Given the description of an element on the screen output the (x, y) to click on. 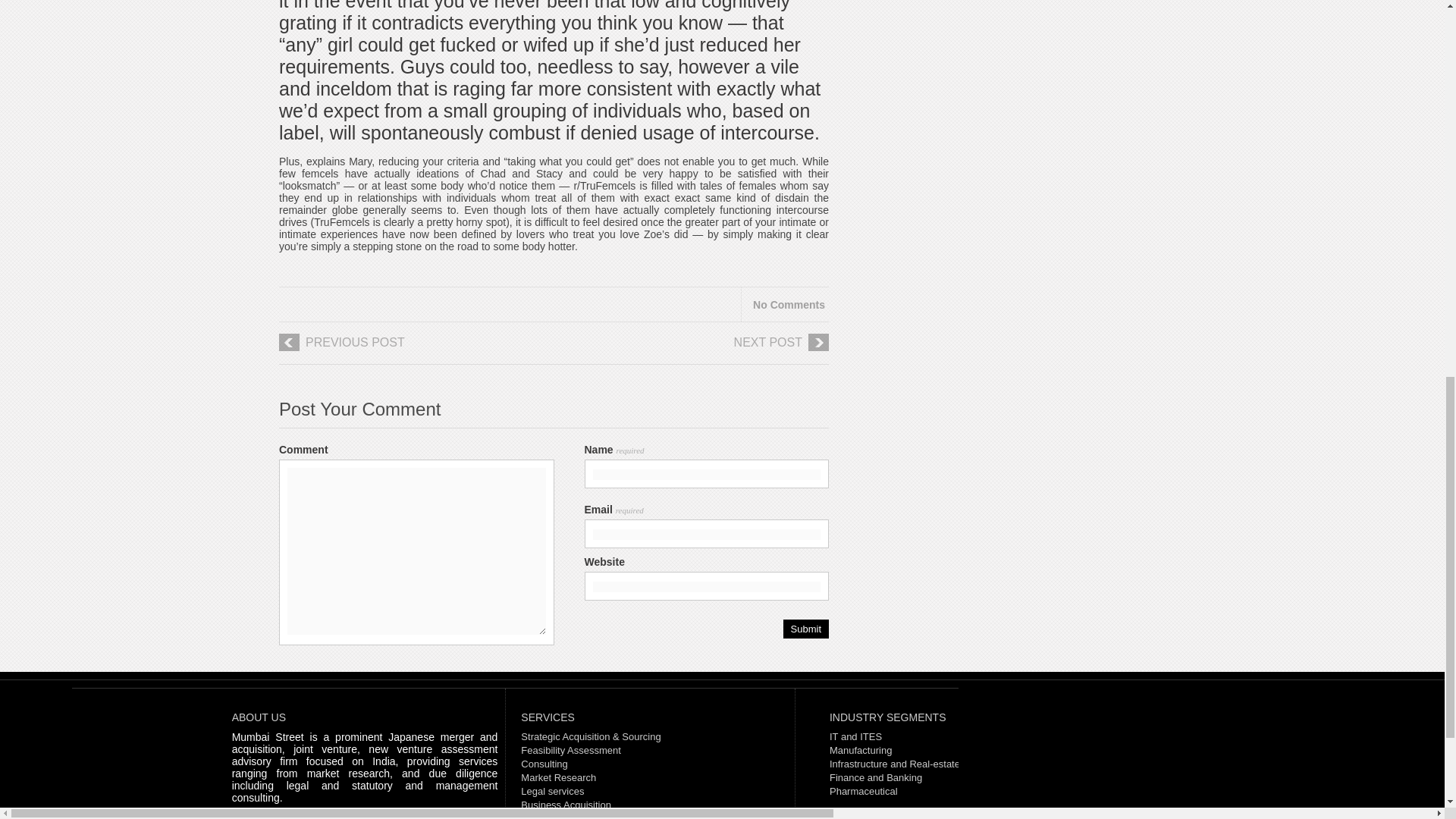
Submit (805, 628)
Submit (805, 628)
PREVIOUS POST (402, 348)
No Comments (788, 304)
Feasibility Assessment (571, 749)
NEXT POST (705, 348)
